Given the description of an element on the screen output the (x, y) to click on. 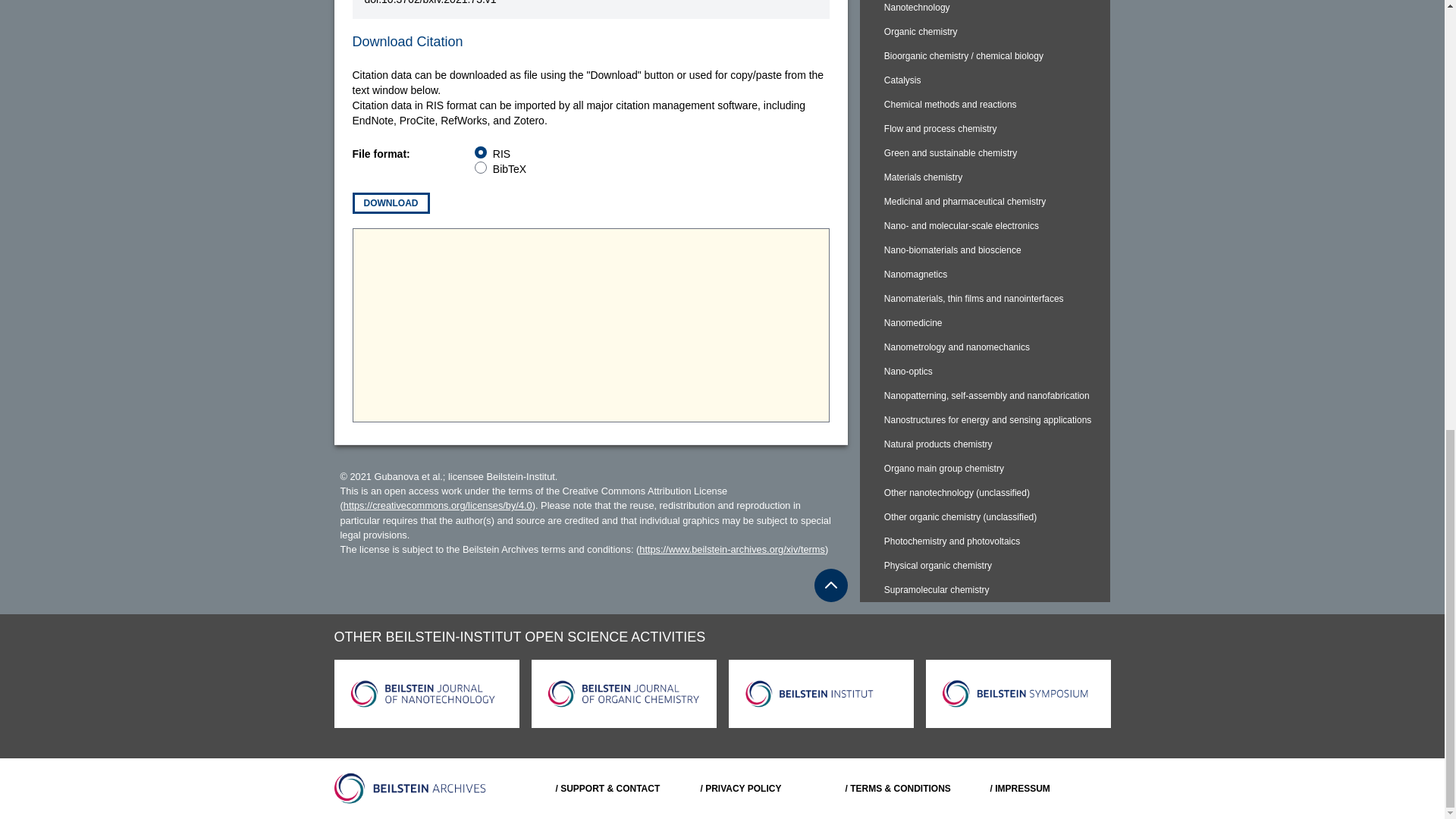
ris (480, 152)
bib (480, 167)
